Given the description of an element on the screen output the (x, y) to click on. 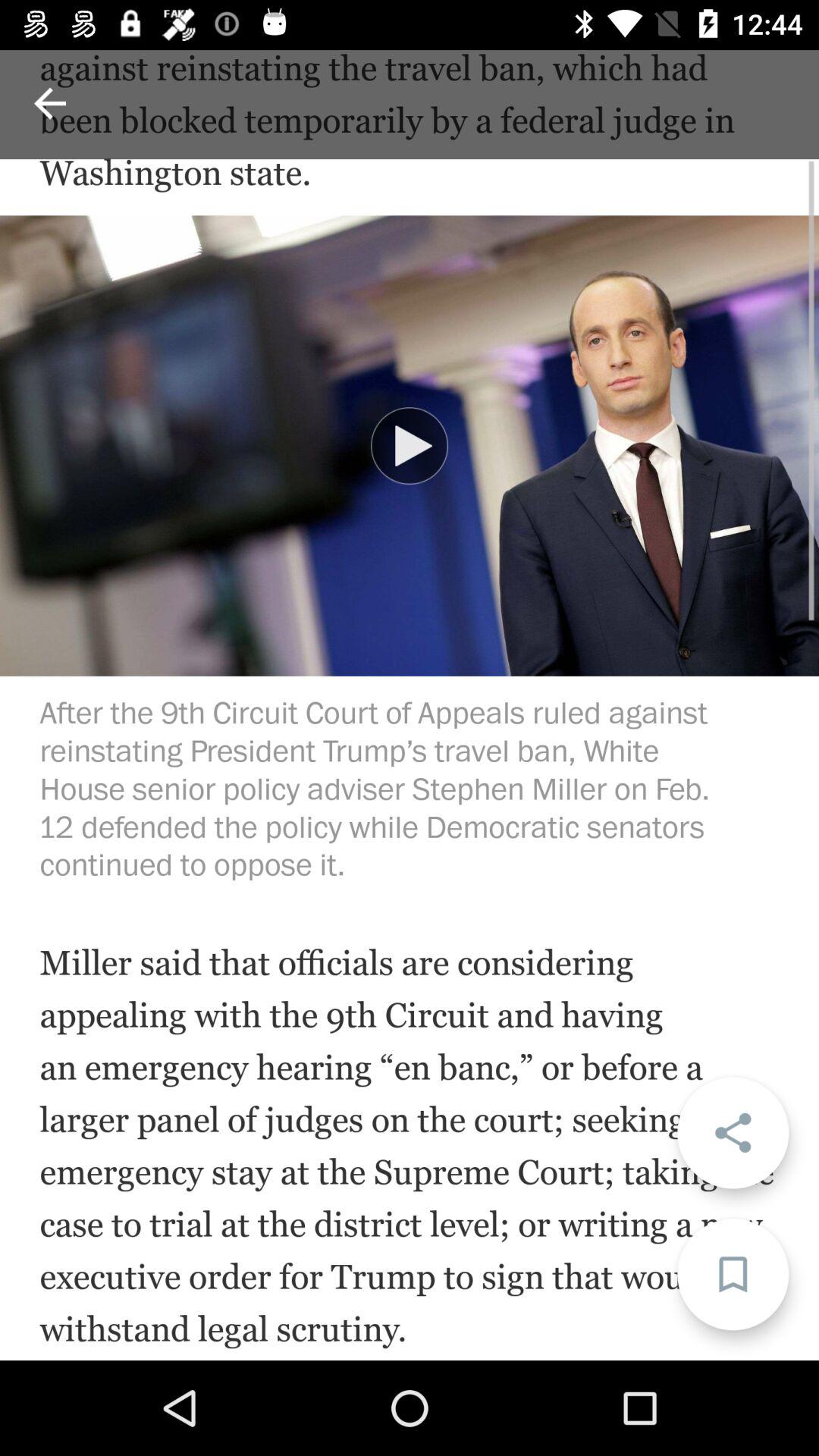
select icon above the after the 9th app (409, 445)
